Given the description of an element on the screen output the (x, y) to click on. 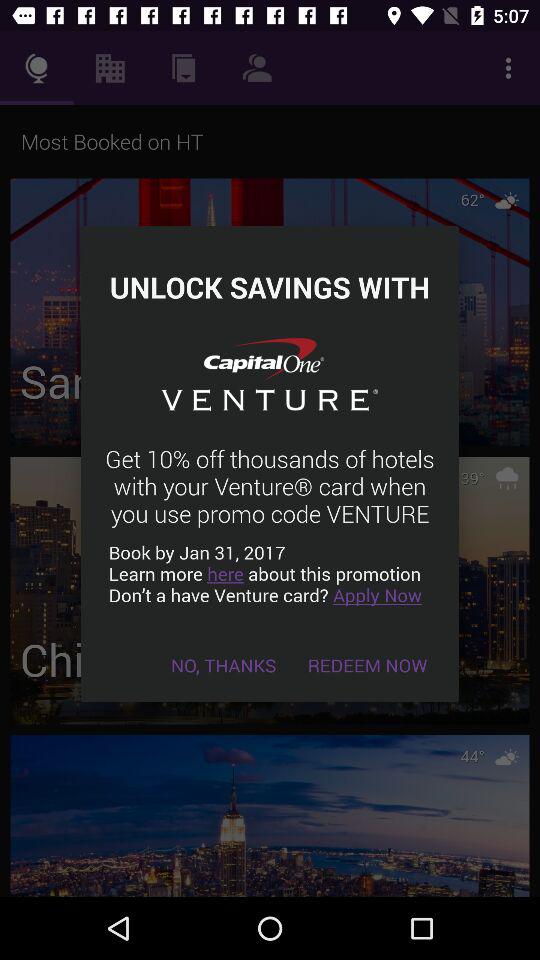
click the item next to the no, thanks (367, 664)
